Given the description of an element on the screen output the (x, y) to click on. 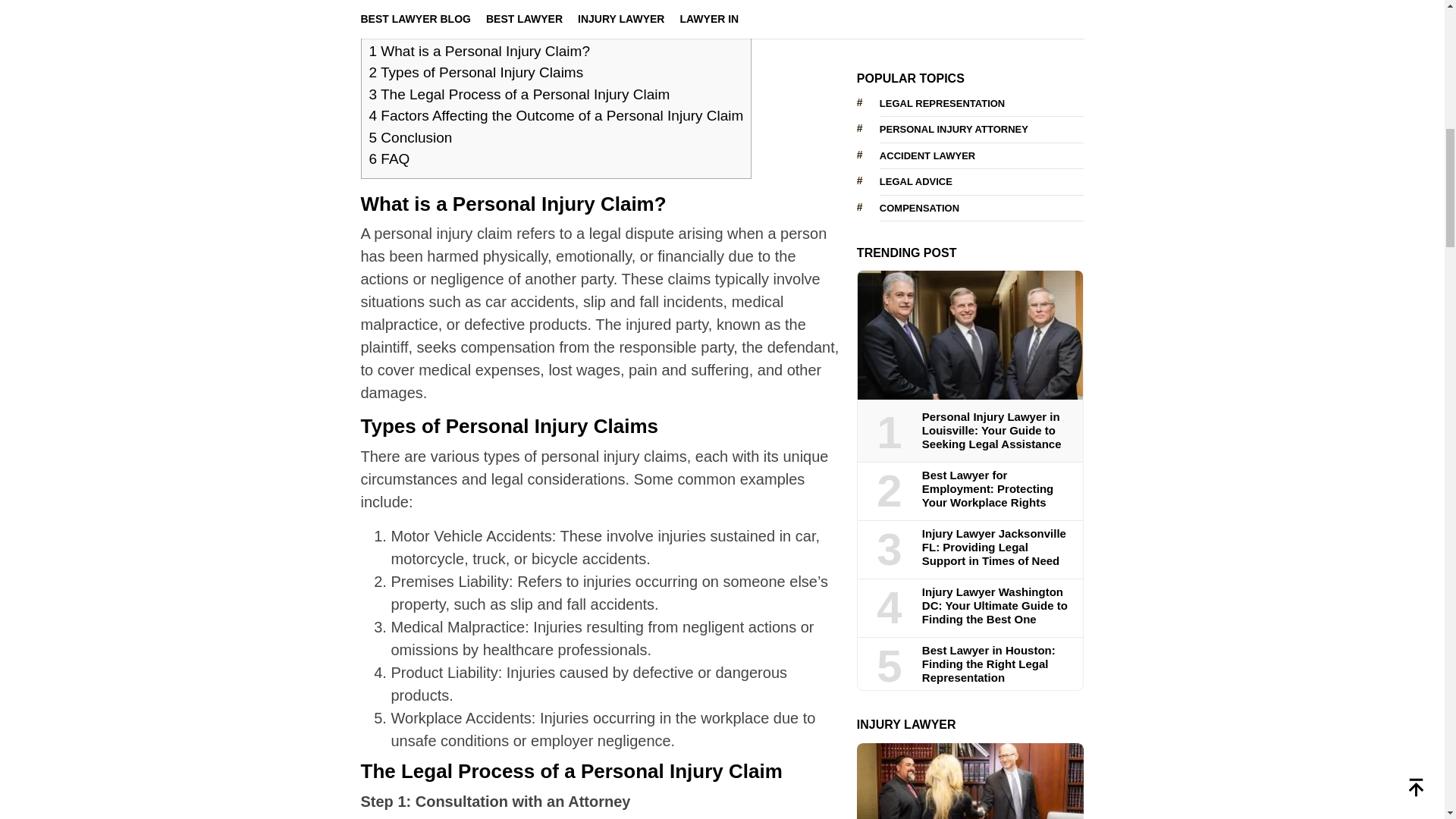
4 Factors Affecting the Outcome of a Personal Injury Claim (555, 115)
hide (621, 15)
3 The Legal Process of a Personal Injury Claim (518, 94)
6 FAQ (388, 158)
5 Conclusion (409, 137)
2 Types of Personal Injury Claims (475, 72)
1 What is a Personal Injury Claim? (478, 50)
